Given the description of an element on the screen output the (x, y) to click on. 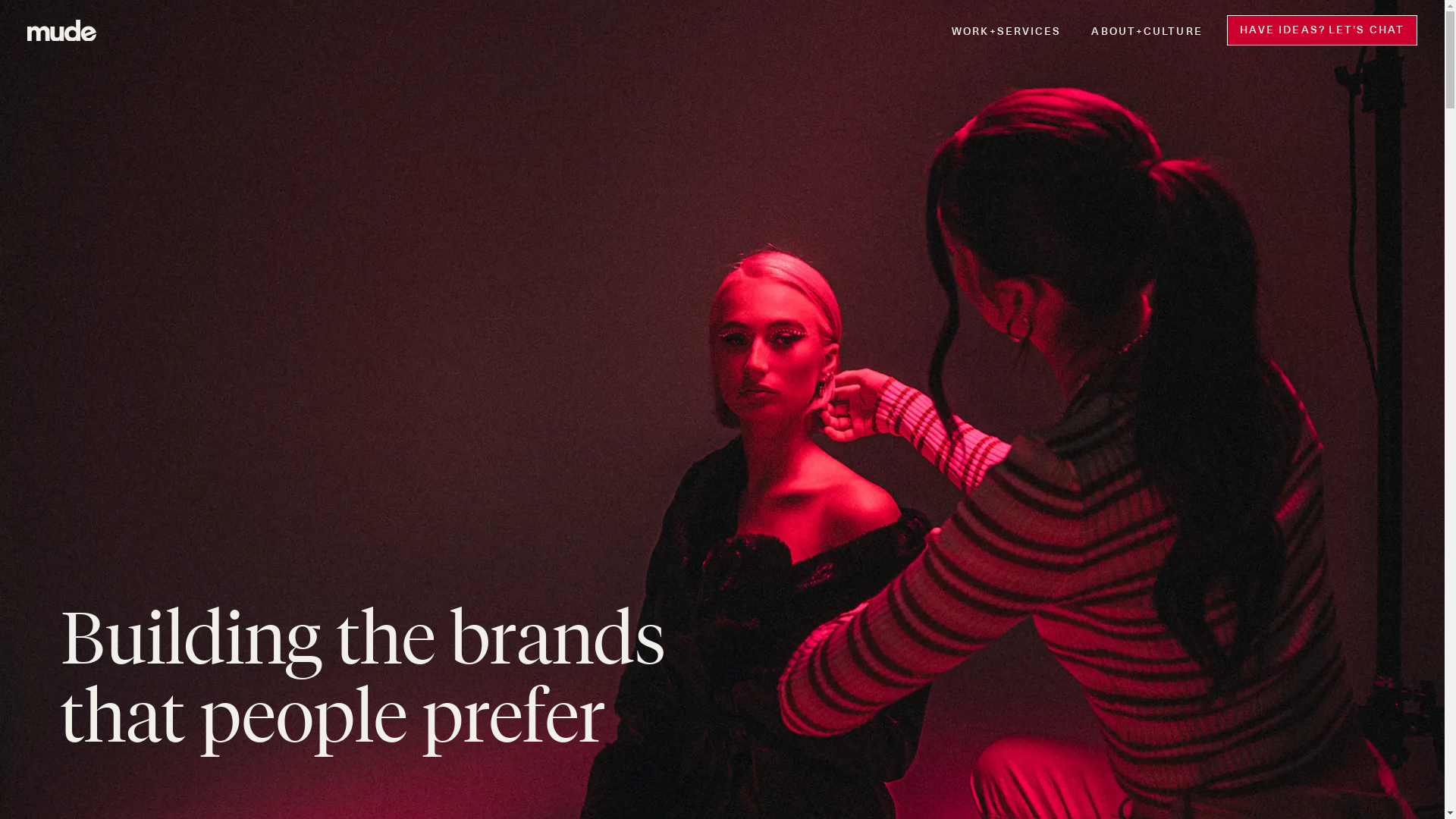
ABOUT+CULTURE Element type: text (1146, 30)
WORK+SERVICES Element type: text (1005, 30)
